Given the description of an element on the screen output the (x, y) to click on. 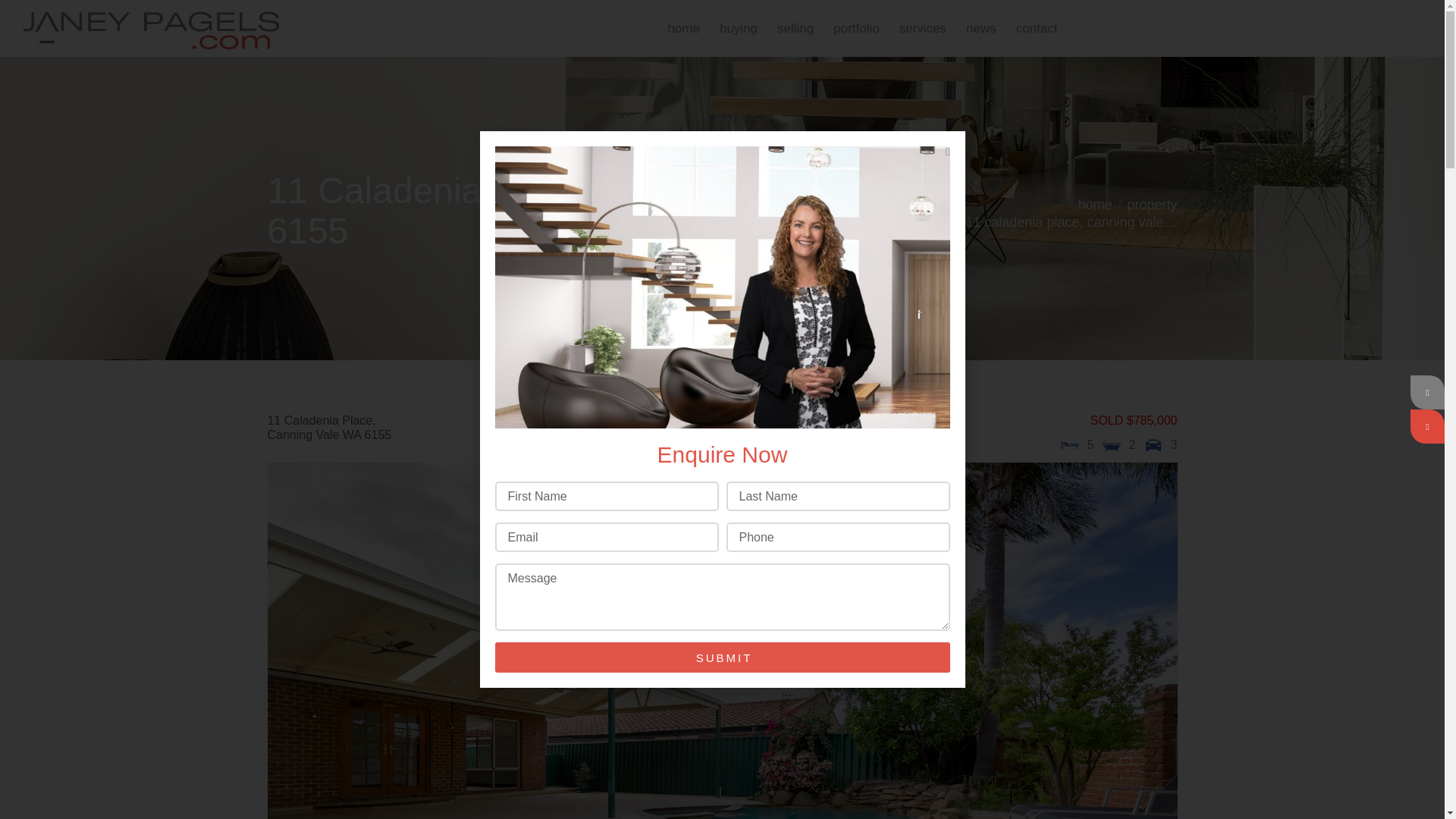
Property (1151, 204)
selling (797, 28)
contact (1039, 28)
buying (740, 28)
Parking Spaces (1152, 445)
Bathrooms (1111, 445)
news (983, 28)
home (685, 28)
Home (1094, 204)
services (924, 28)
Bedrooms (1069, 445)
portfolio (857, 28)
